Given the description of an element on the screen output the (x, y) to click on. 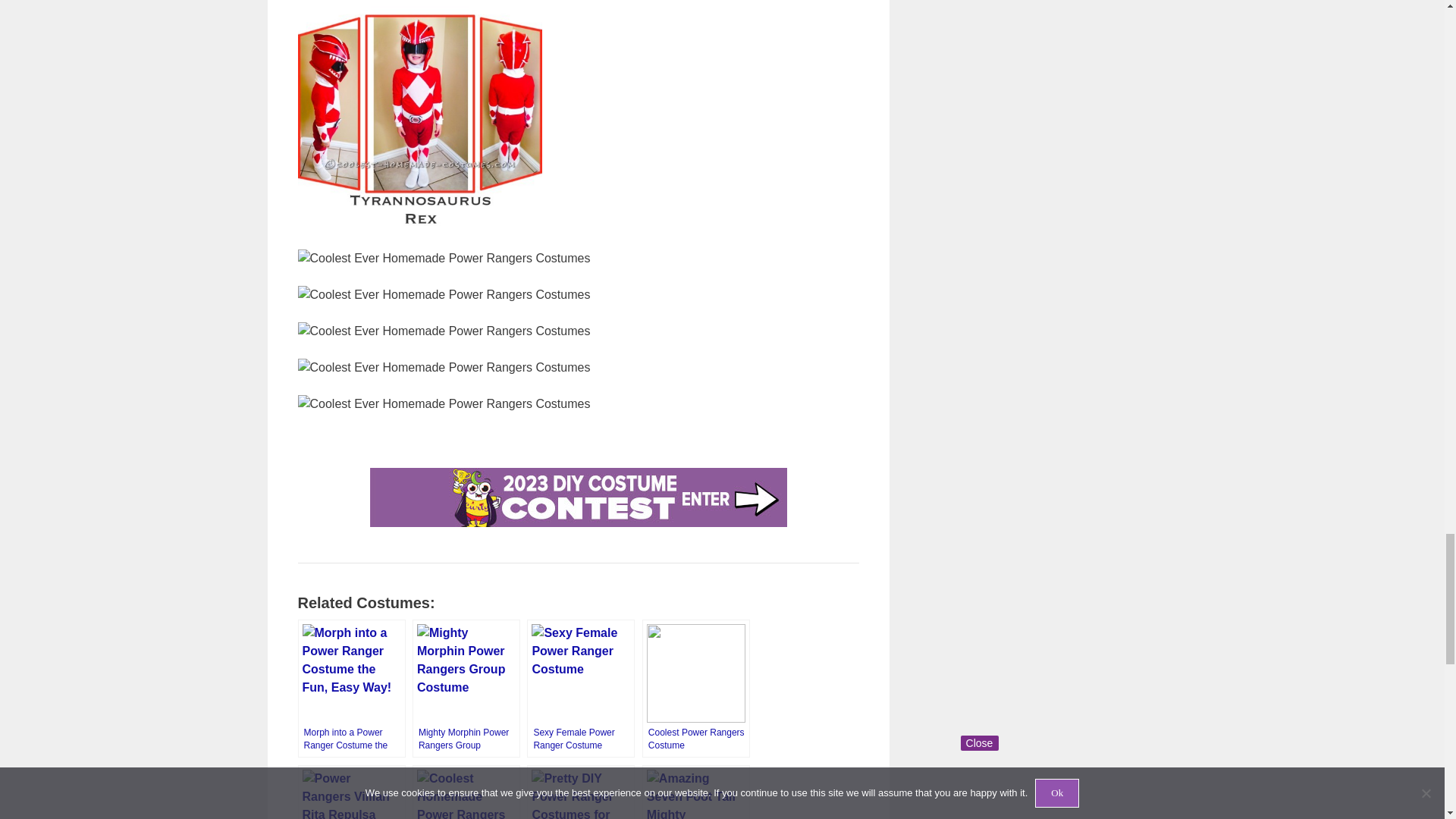
Amazing Seven Foot Tall Mighty Megazord Costume (695, 791)
Pretty DIY Power Ranger Costumes for Women (580, 791)
Power Rangers Villian Rita Repulsa Costume for a Girl (350, 791)
Coolest Homemade Power Rangers Costume: All Hail Lord Zedd! (465, 791)
